Given the description of an element on the screen output the (x, y) to click on. 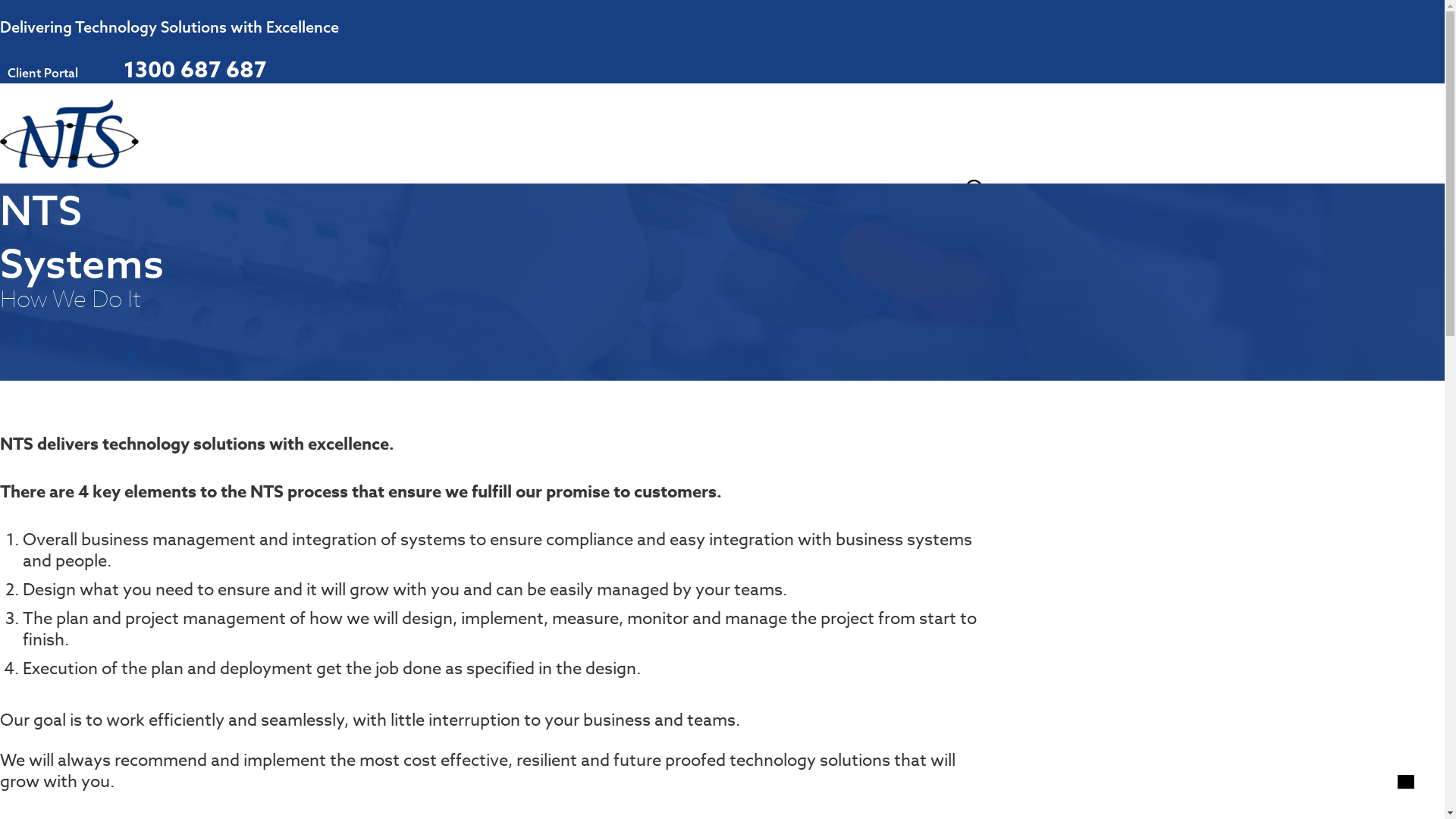
SOLUTIONS
What We Do Element type: text (403, 230)
NEWS Element type: text (841, 220)
SYSTEMS
How We Do It Element type: text (514, 230)
TEAM
Who We Are Element type: text (294, 230)
1300 687 687 Element type: text (183, 68)
CONTACT Element type: text (932, 220)
Client Portal Element type: text (39, 72)
CAREERS
Join Our Team Element type: text (748, 230)
